Given the description of an element on the screen output the (x, y) to click on. 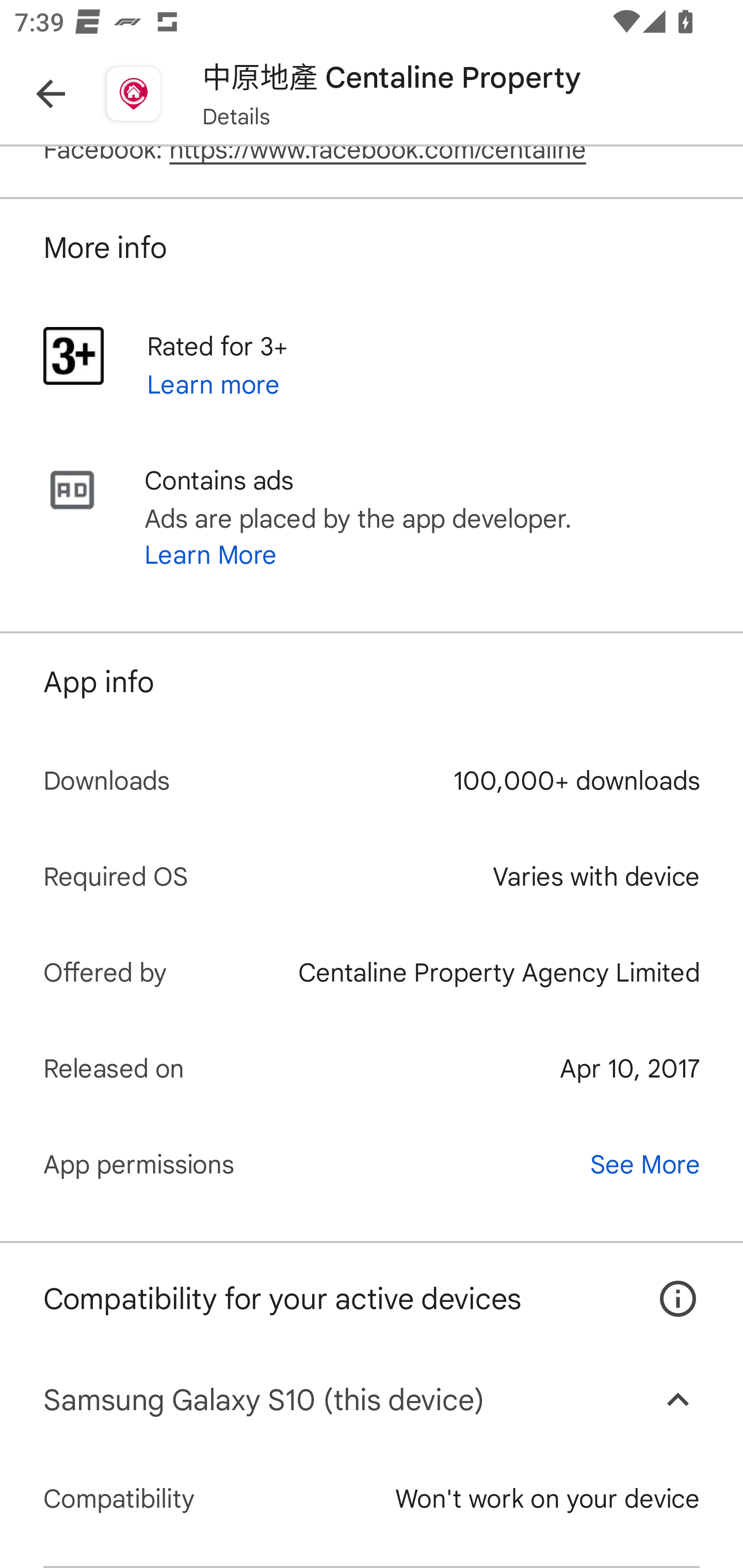
Navigate up (50, 93)
App permissions See More (371, 1164)
How this App works on your devices. (666, 1284)
Samsung Galaxy S10 (this device) Collapse (371, 1400)
Collapse (677, 1400)
